Given the description of an element on the screen output the (x, y) to click on. 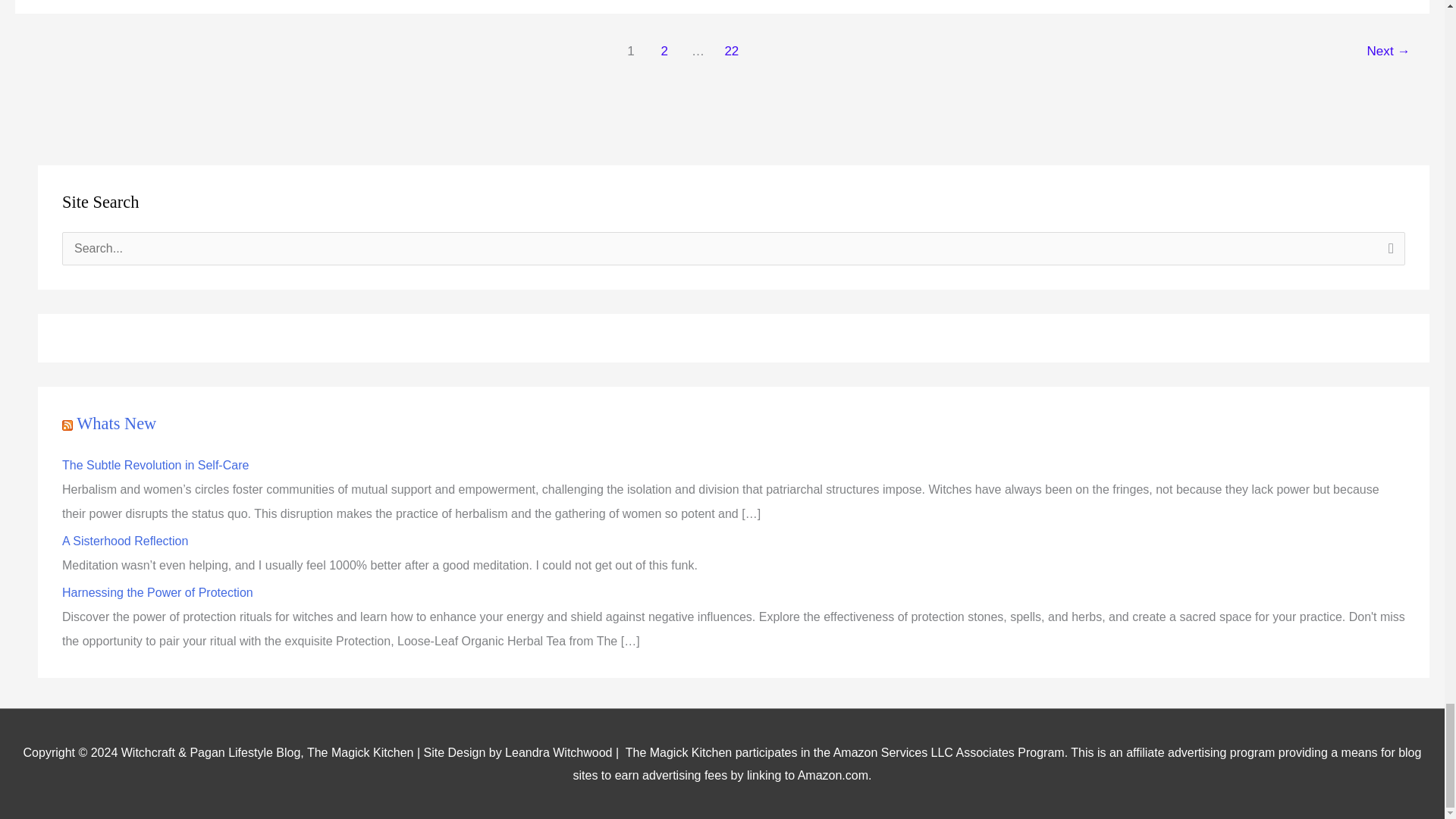
Search (1388, 252)
Search (1388, 252)
